Given the description of an element on the screen output the (x, y) to click on. 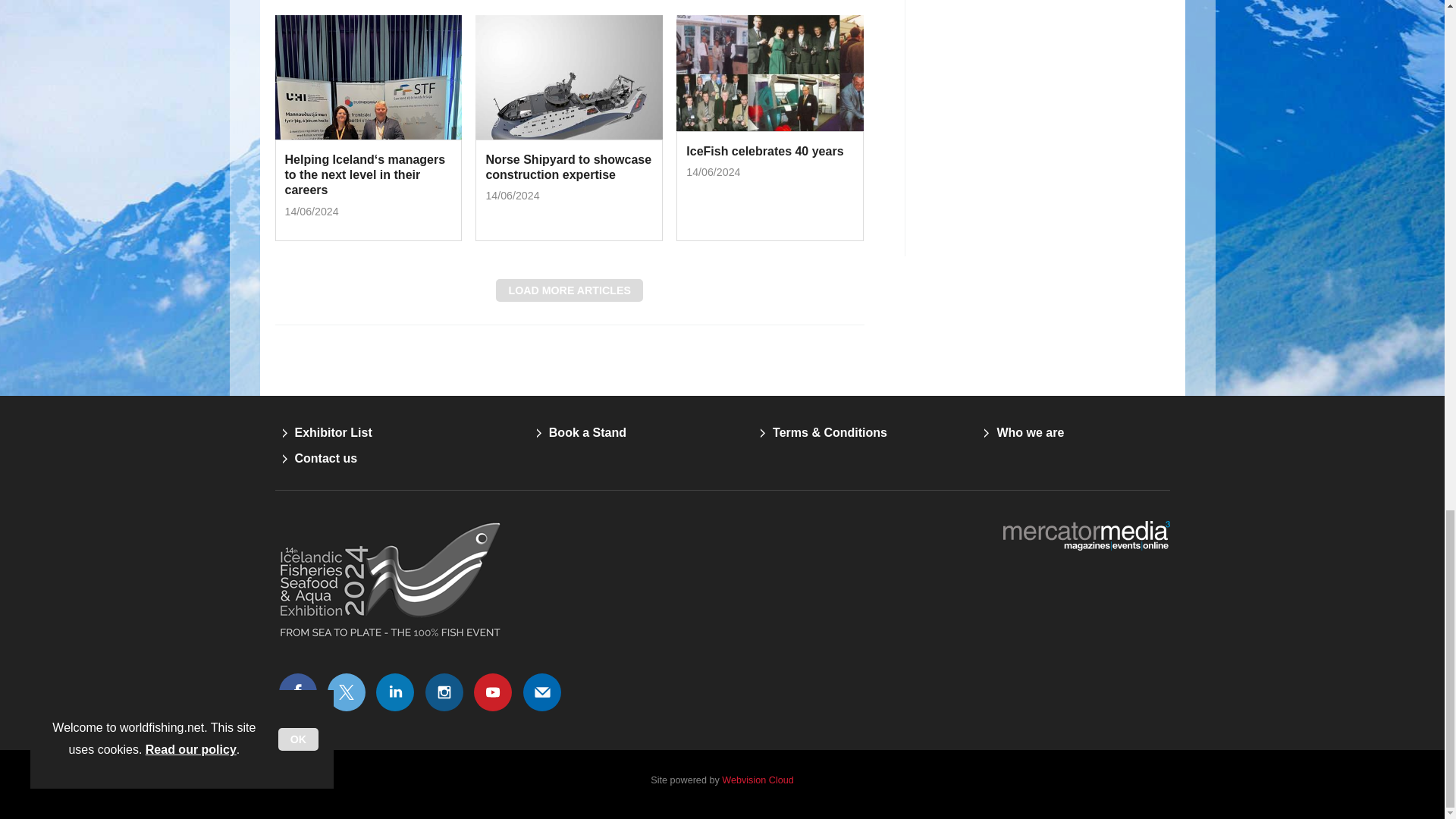
Connect with us on Youtube (492, 691)
Connect with us on Linked In (394, 691)
Connect with us on Instagram (444, 691)
Email us (542, 691)
Connect with us on Twitter (346, 691)
Connect with us on Facebook (297, 691)
